Given the description of an element on the screen output the (x, y) to click on. 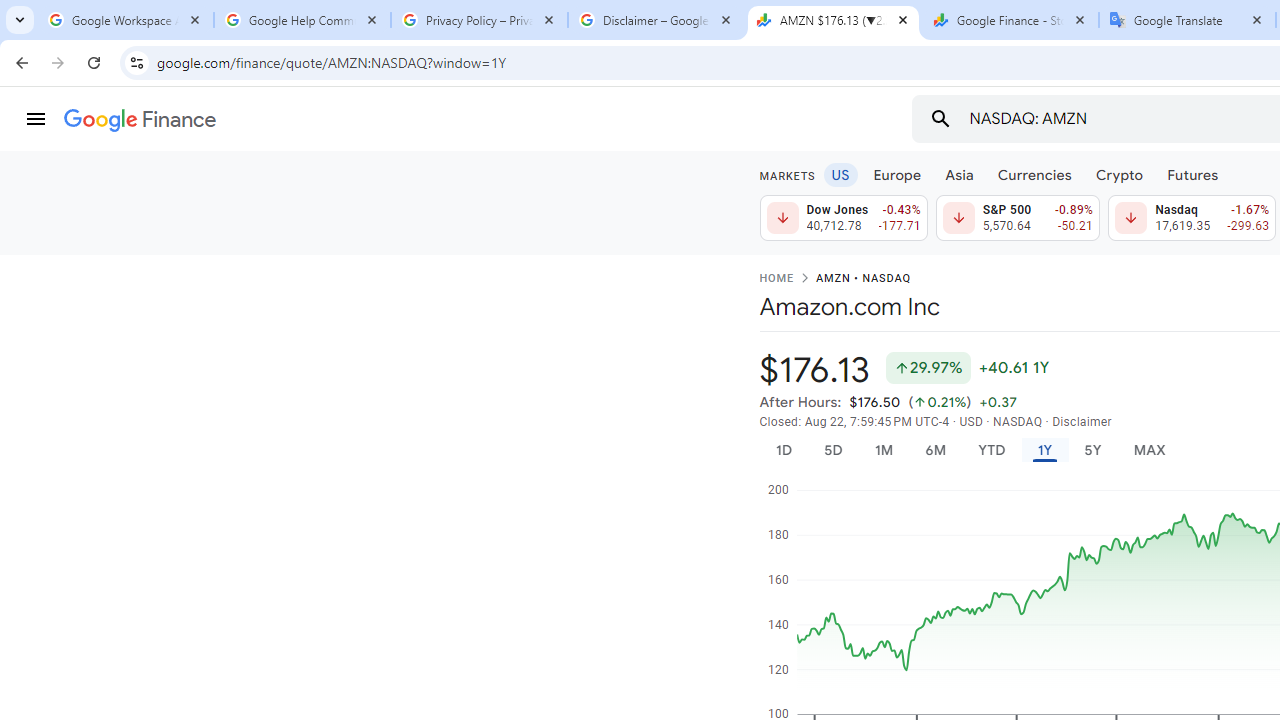
Europe (897, 174)
US (840, 174)
5Y (1092, 449)
MAX (1149, 449)
1D (783, 449)
Finance (140, 120)
1Y (1044, 449)
Google Workspace Admin Community (125, 20)
